Given the description of an element on the screen output the (x, y) to click on. 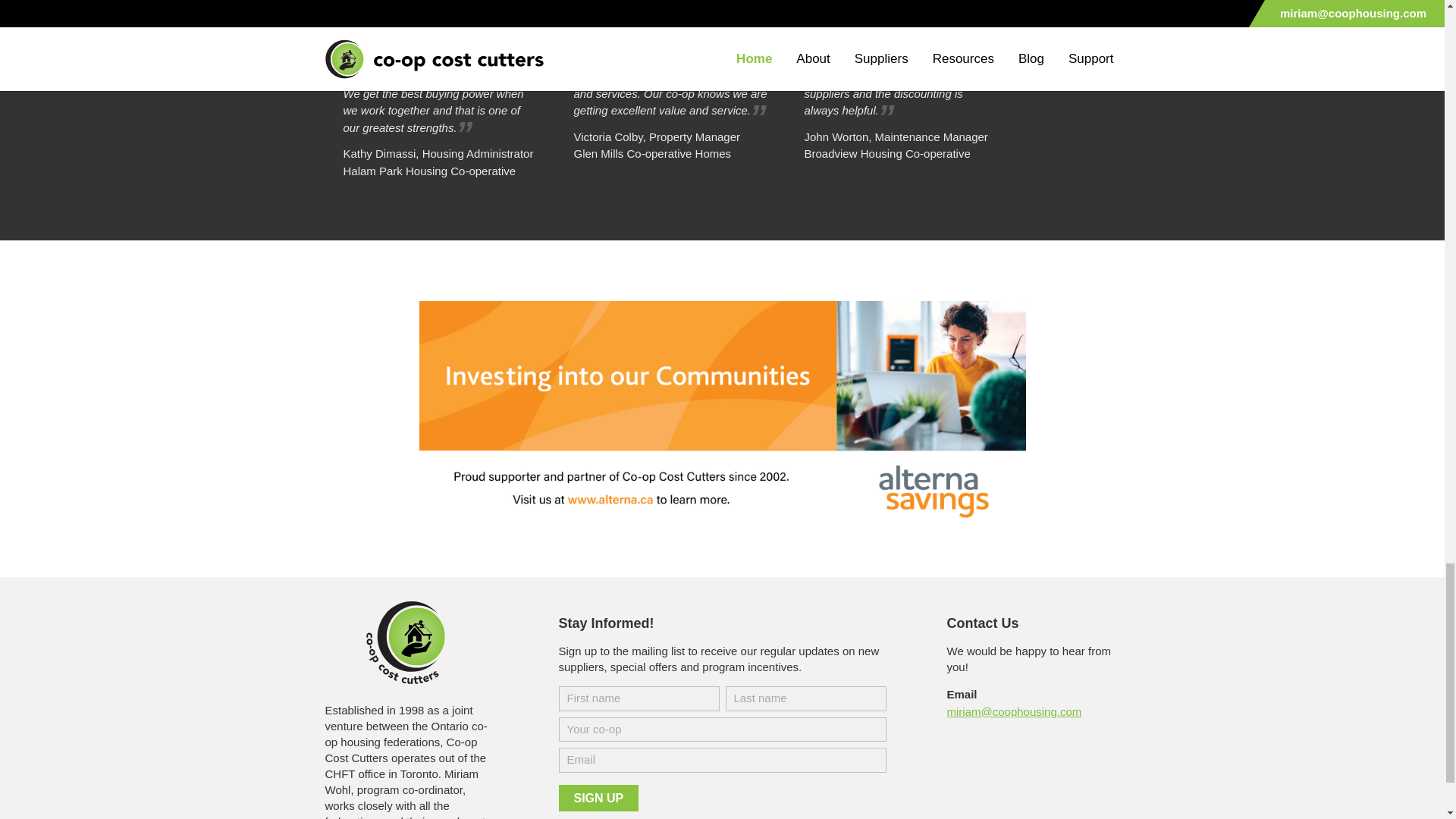
Sign up (598, 797)
Sign up (598, 797)
